Given the description of an element on the screen output the (x, y) to click on. 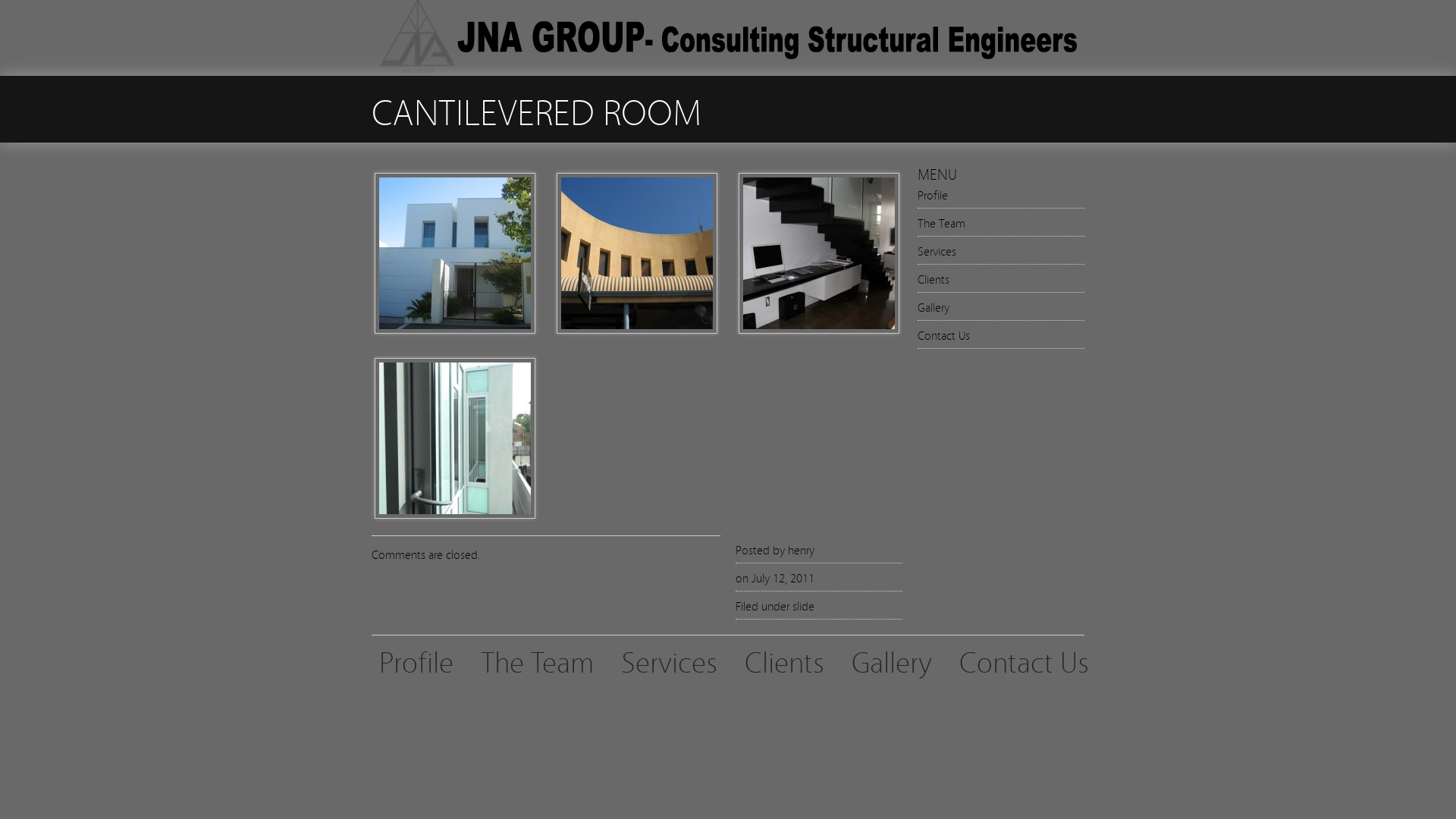
Clients Element type: text (933, 277)
Services Element type: text (669, 660)
Gallery Element type: text (933, 306)
Contact Us Element type: text (943, 334)
Services Element type: text (936, 249)
Profile Element type: text (416, 660)
henry Element type: text (800, 548)
Profile Element type: text (932, 193)
788_8827 Element type: hover (636, 328)
796_9692 Element type: hover (454, 328)
Gallery Element type: text (891, 660)
IMG_7696 Element type: hover (818, 328)
Cantilvered Room Element type: hover (454, 513)
slide Element type: text (803, 604)
The Team Element type: text (536, 660)
Clients Element type: text (784, 660)
Contact Us Element type: text (1023, 660)
The Team Element type: text (941, 221)
